Given the description of an element on the screen output the (x, y) to click on. 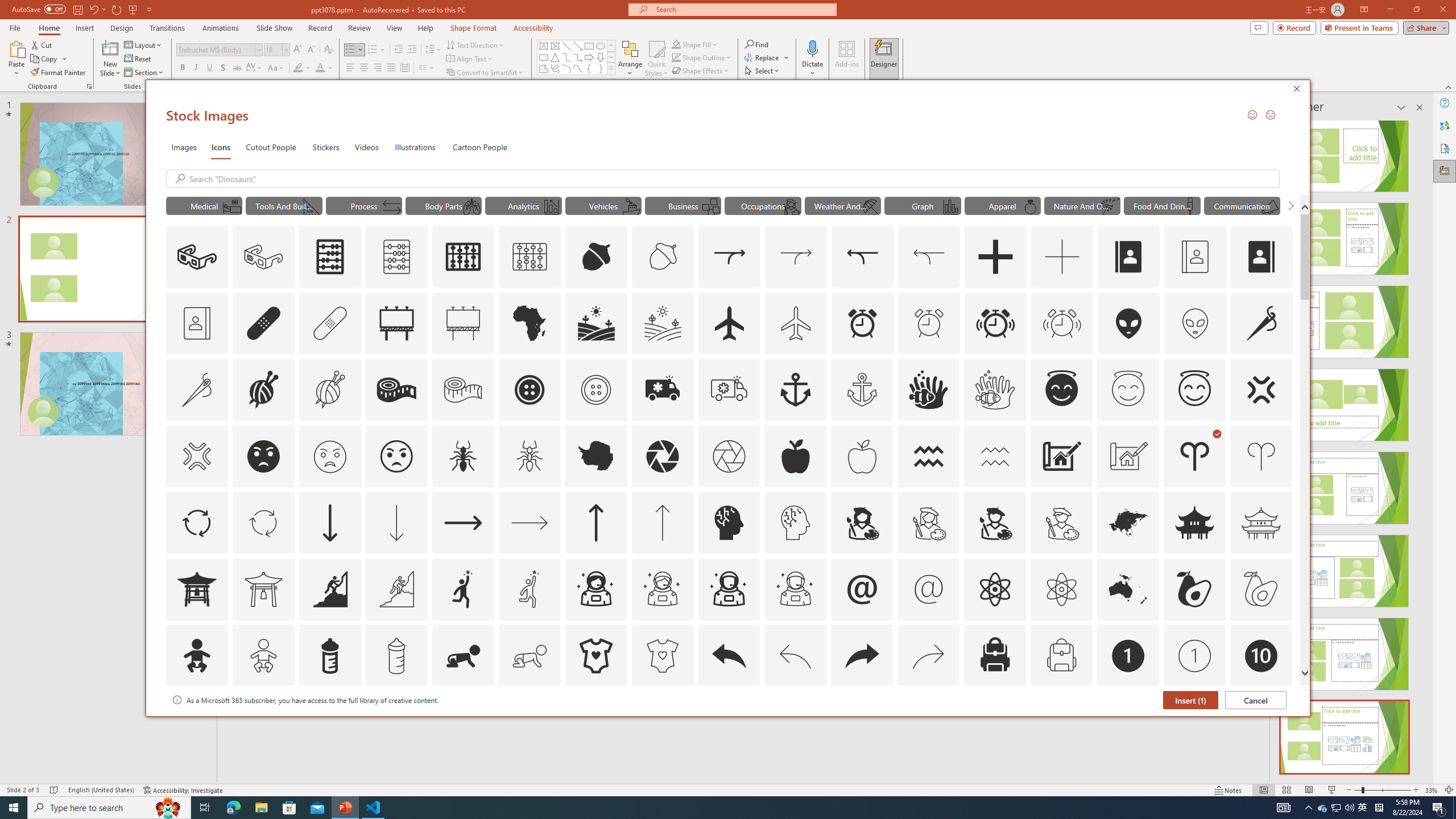
"Nature And Outdoors" Icons. (1082, 205)
AutomationID: Icons_AngryFace (263, 455)
Thumbnail (1283, 699)
AutomationID: Icons_Acquisition_RTL_M (928, 256)
AutomationID: Icons_AlarmRinging_M (1062, 323)
Illustrations (415, 146)
